Given the description of an element on the screen output the (x, y) to click on. 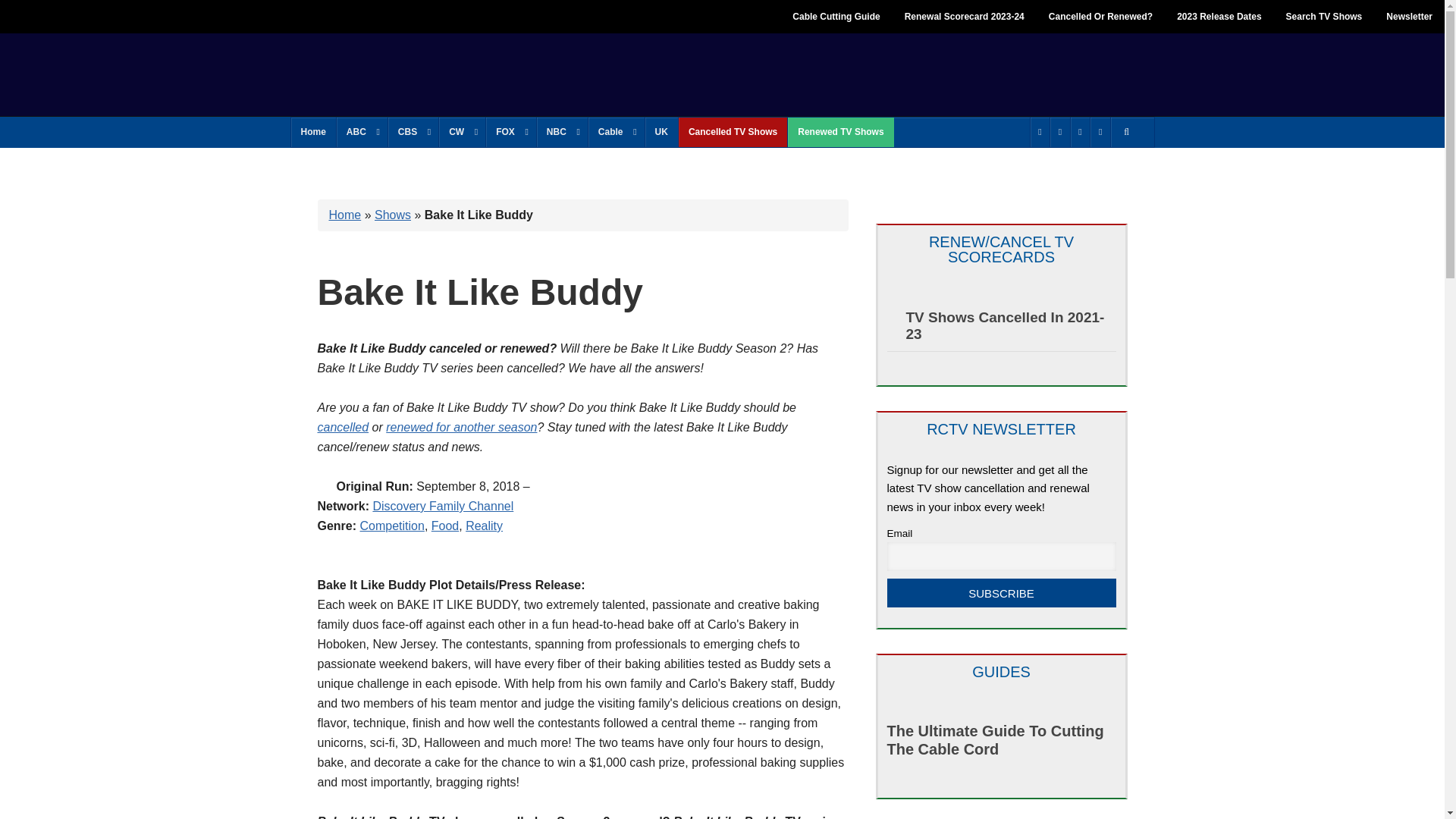
Renewal Scorecard 2023-24 (964, 16)
2023 Release Dates (1218, 16)
Home (313, 132)
ABC (361, 132)
Cable Cutting Guide (835, 16)
Cancelled Or Renewed? (1100, 16)
CBS (412, 132)
Subscribe (1001, 592)
Search TV Shows (1324, 16)
